Given the description of an element on the screen output the (x, y) to click on. 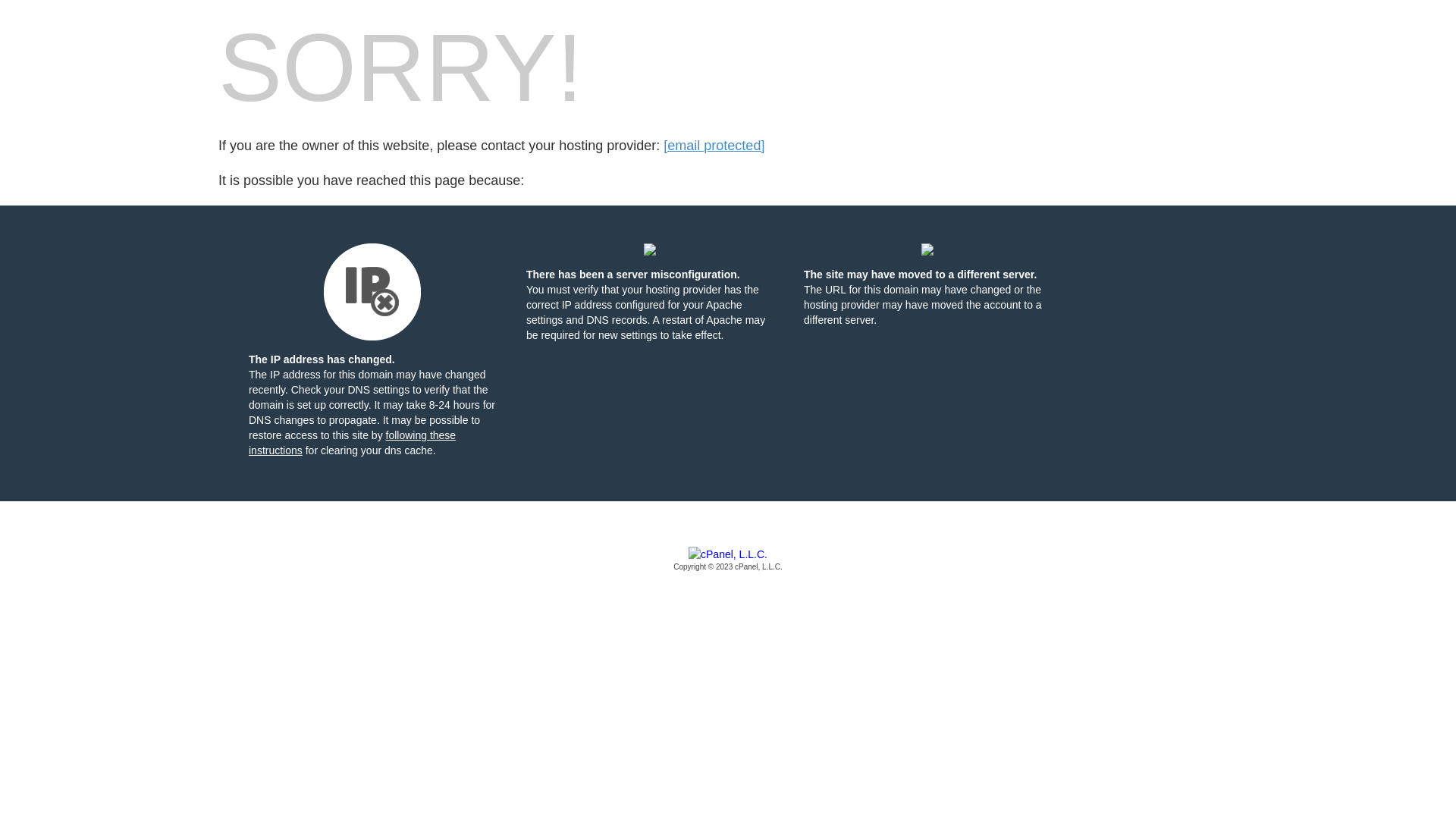
[email protected] Element type: text (713, 145)
following these instructions Element type: text (351, 442)
